Given the description of an element on the screen output the (x, y) to click on. 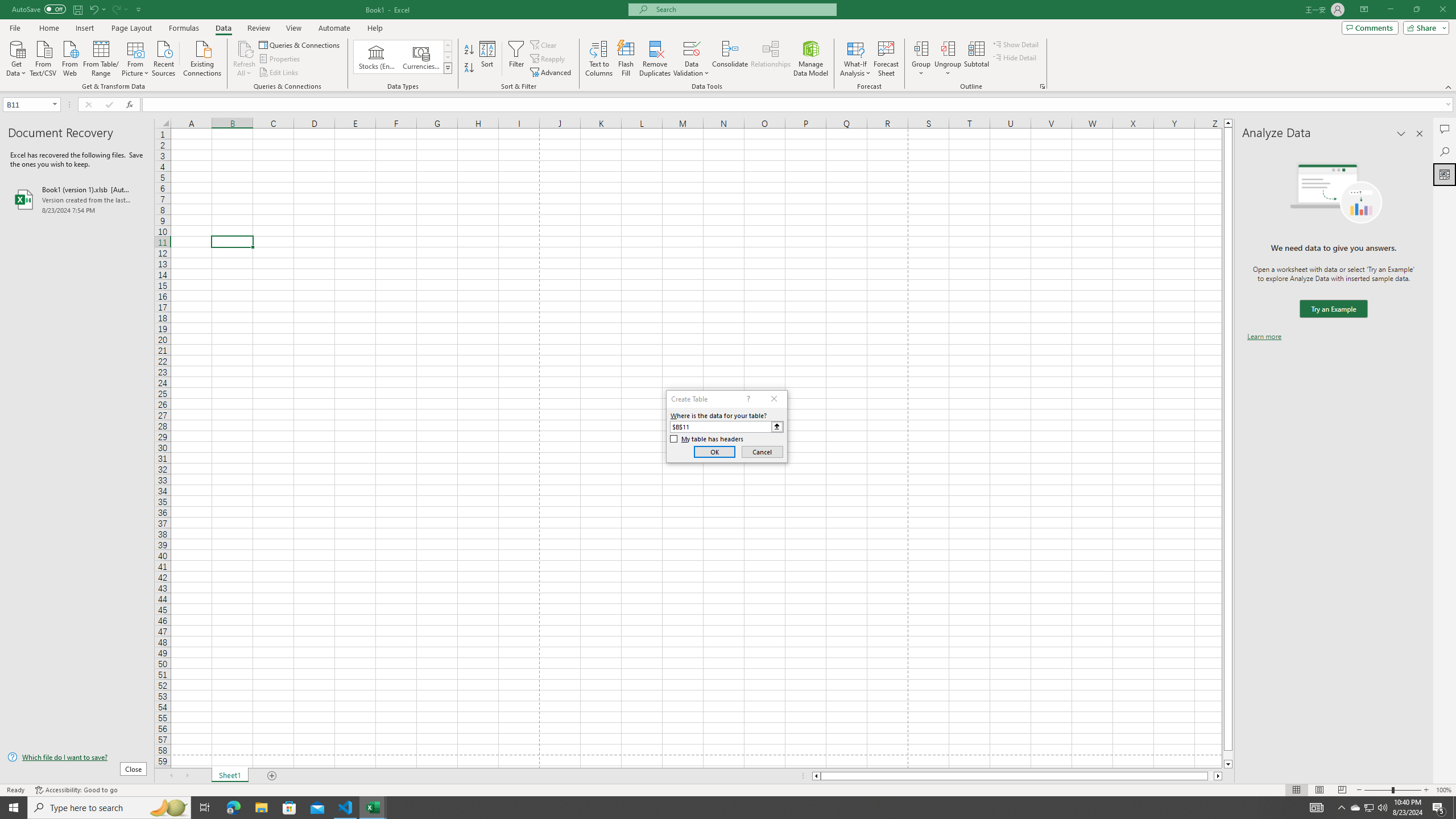
Hide Detail (1014, 56)
Column right (1218, 775)
Line down (1228, 764)
Manage Data Model (810, 58)
Scroll Right (187, 775)
Properties (280, 58)
Text to Columns... (598, 58)
Minimize (1390, 9)
Page Layout (131, 28)
Group... (921, 58)
Edit Links (279, 72)
Share (1423, 27)
Class: MsoCommandBar (728, 45)
Class: NetUIImage (447, 68)
Comments (1369, 27)
